Given the description of an element on the screen output the (x, y) to click on. 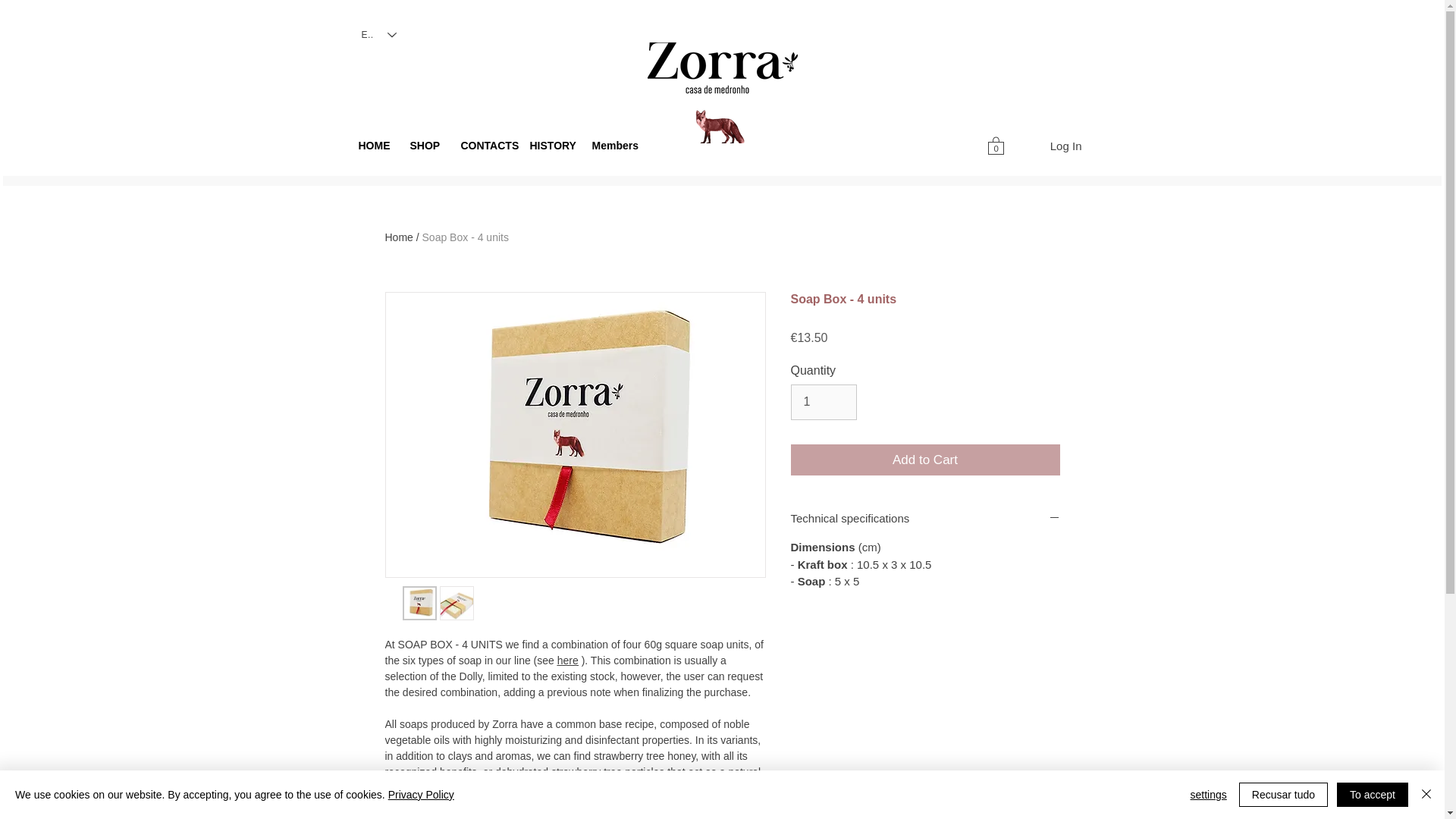
CONTACTS (487, 145)
HOME (375, 145)
1 (823, 401)
To accept (1371, 794)
Members (614, 145)
Technical specifications (924, 518)
Log In (1066, 145)
SHOP (426, 145)
Home (399, 236)
Add to Cart (924, 459)
